Given the description of an element on the screen output the (x, y) to click on. 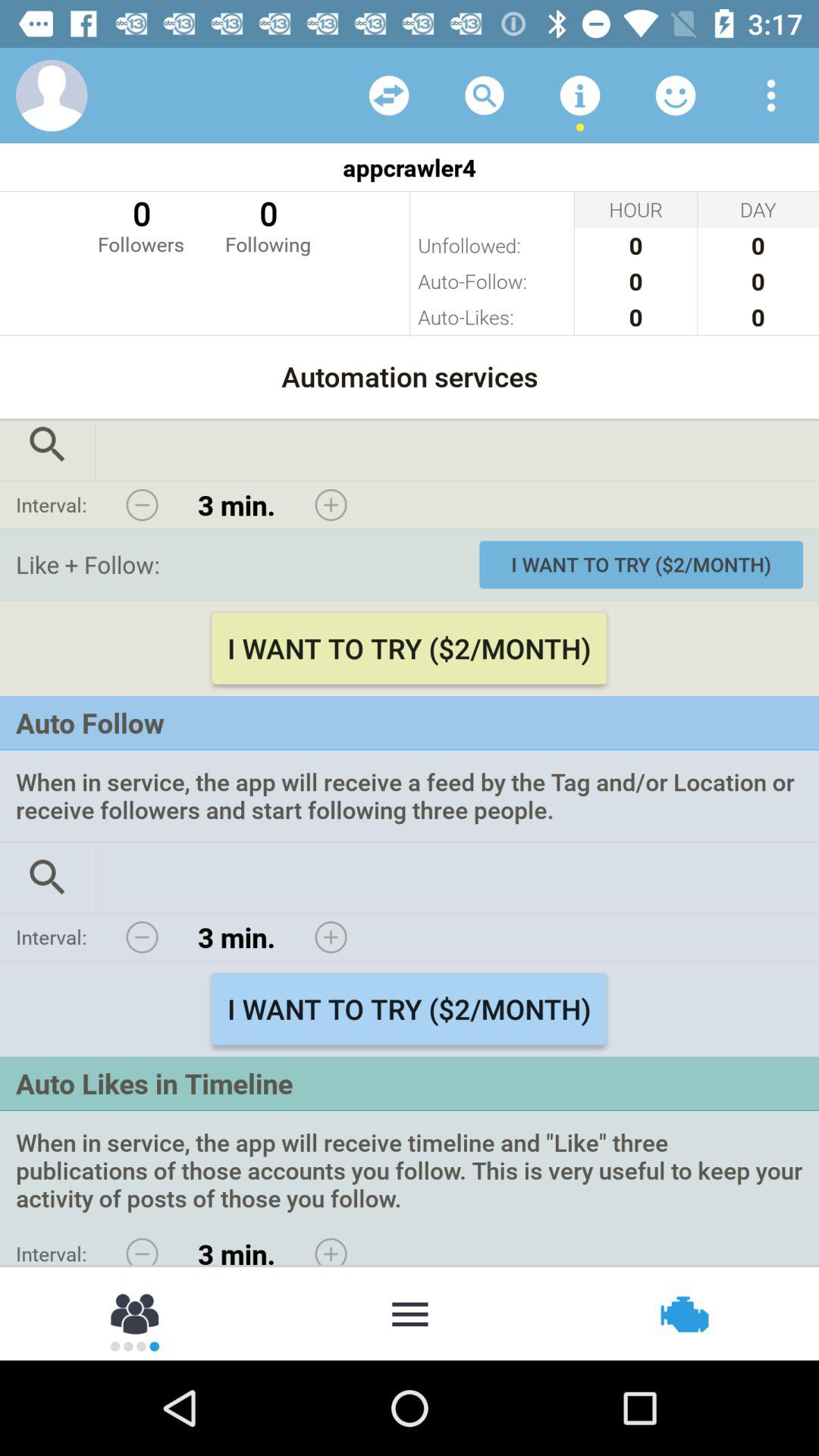
open the icon below 3 min. item (409, 1312)
